Given the description of an element on the screen output the (x, y) to click on. 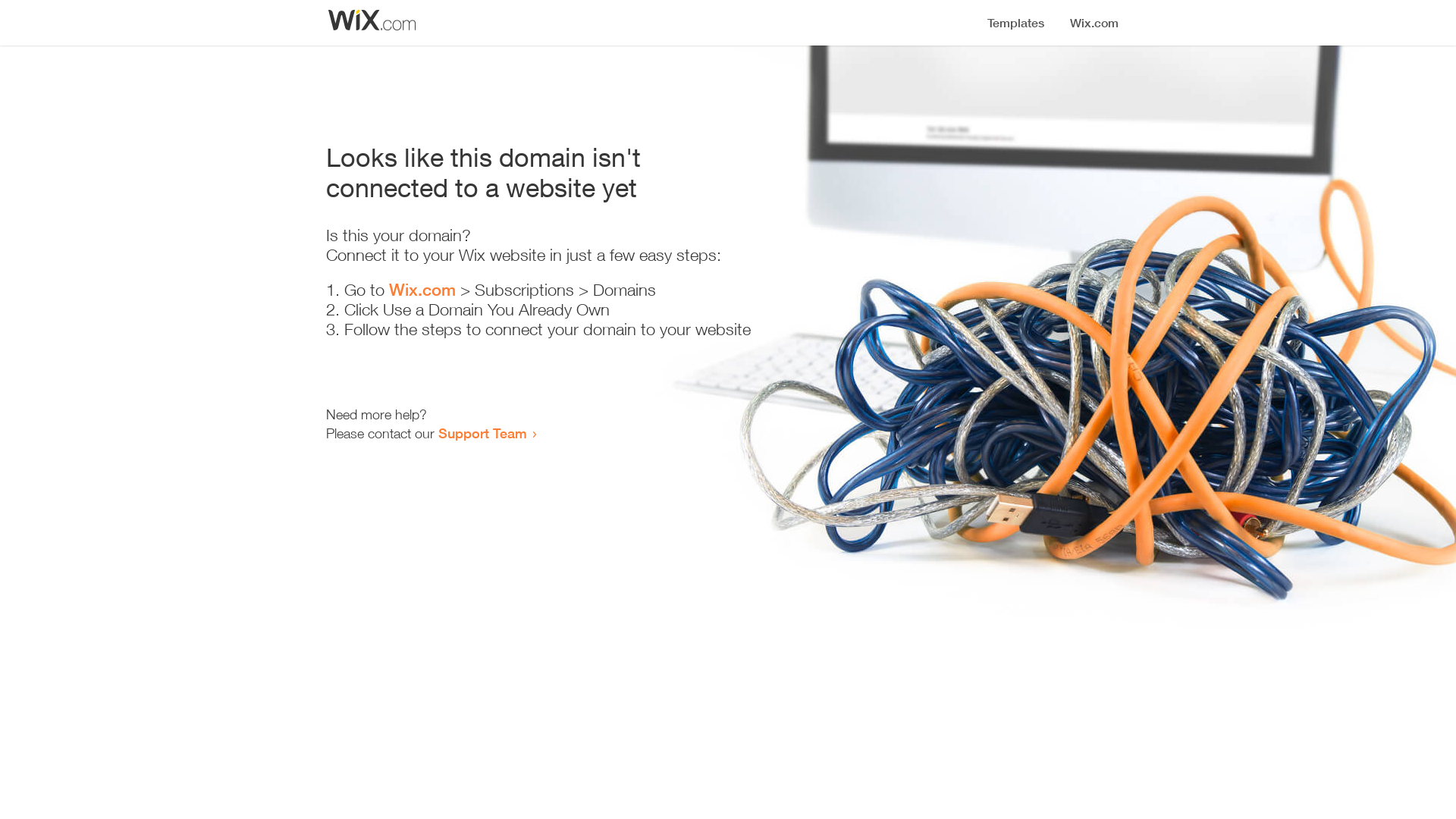
Wix.com Element type: text (422, 289)
Support Team Element type: text (482, 432)
